Given the description of an element on the screen output the (x, y) to click on. 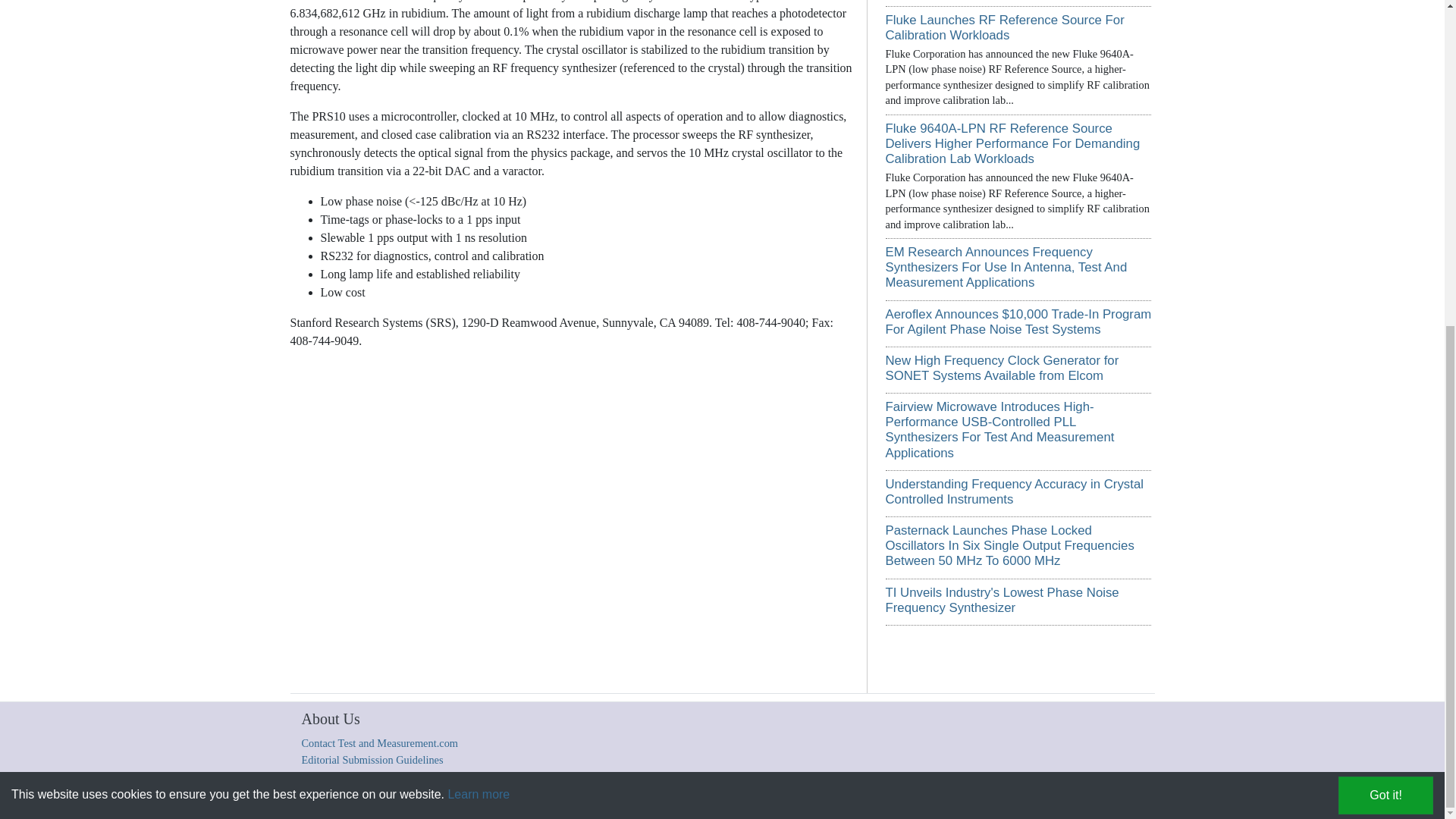
Contact Test and Measurement.com (379, 743)
Terms of Use (704, 798)
Fluke Launches RF Reference Source For Calibration Workloads (1004, 27)
Privacy Statement (770, 798)
VertMarkets, Inc. (561, 798)
Editorial Submission Guidelines (372, 758)
Don't sell my information (960, 798)
Subscriber Request Form (858, 798)
Copyright (453, 798)
Got it! (1385, 260)
